Given the description of an element on the screen output the (x, y) to click on. 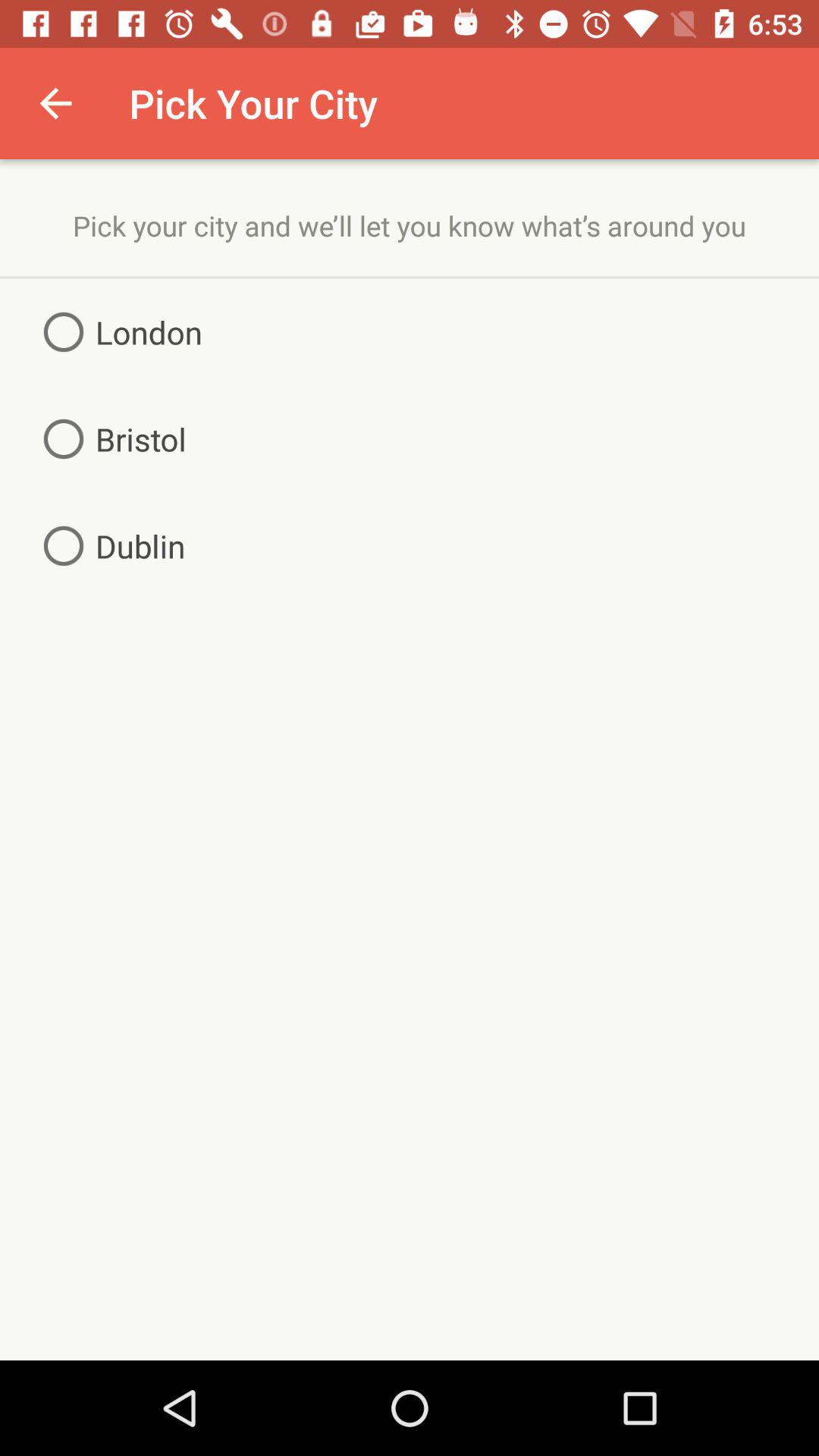
choose the dublin item (108, 545)
